Given the description of an element on the screen output the (x, y) to click on. 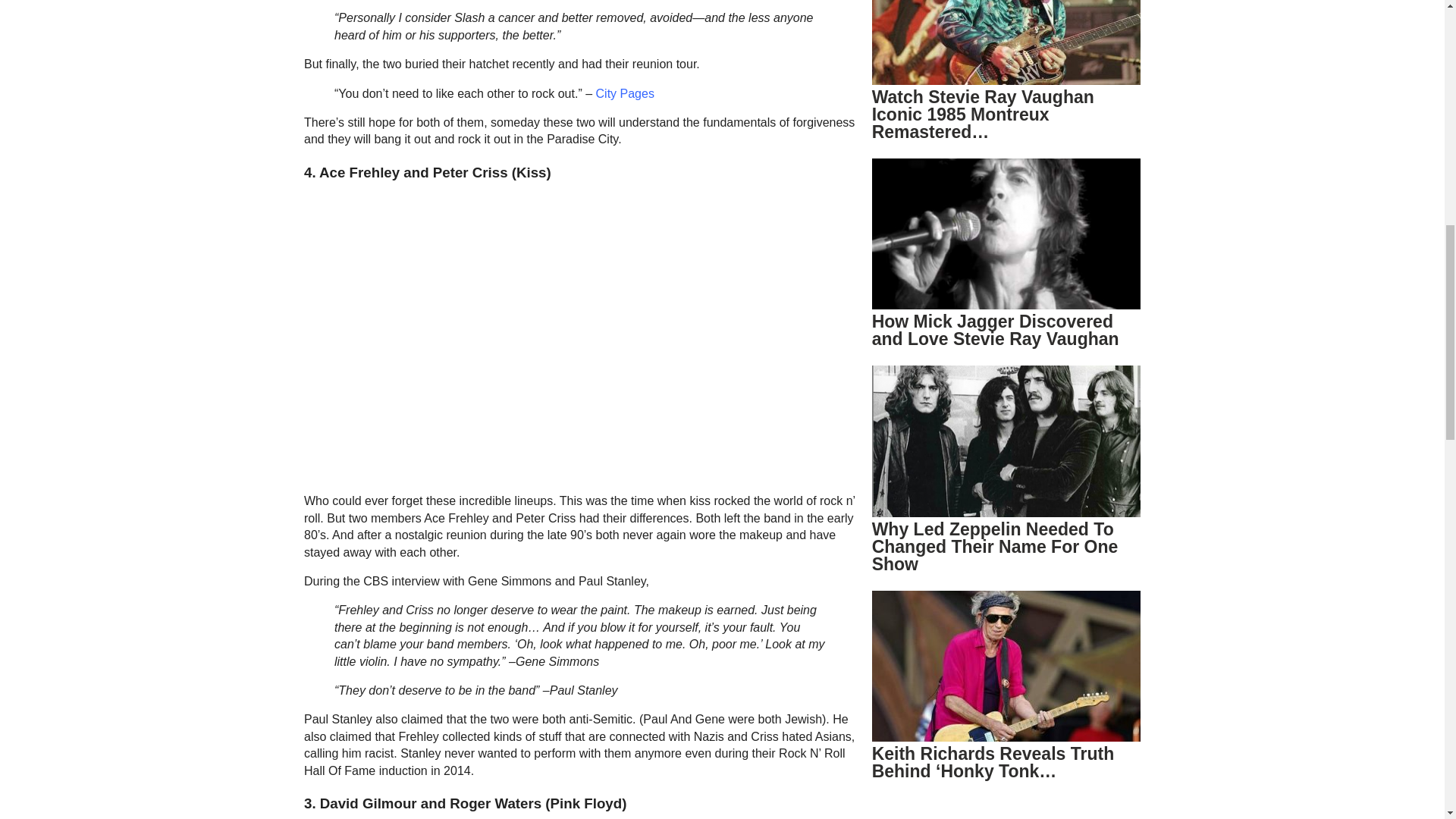
City Pages (624, 92)
KISS - Detroit Rock City - Live 1976 (493, 338)
Why Led Zeppelin Needed To Changed Their Name For One Show (995, 546)
How Mick Jagger Discovered and Love Stevie Ray Vaughan (995, 330)
